Given the description of an element on the screen output the (x, y) to click on. 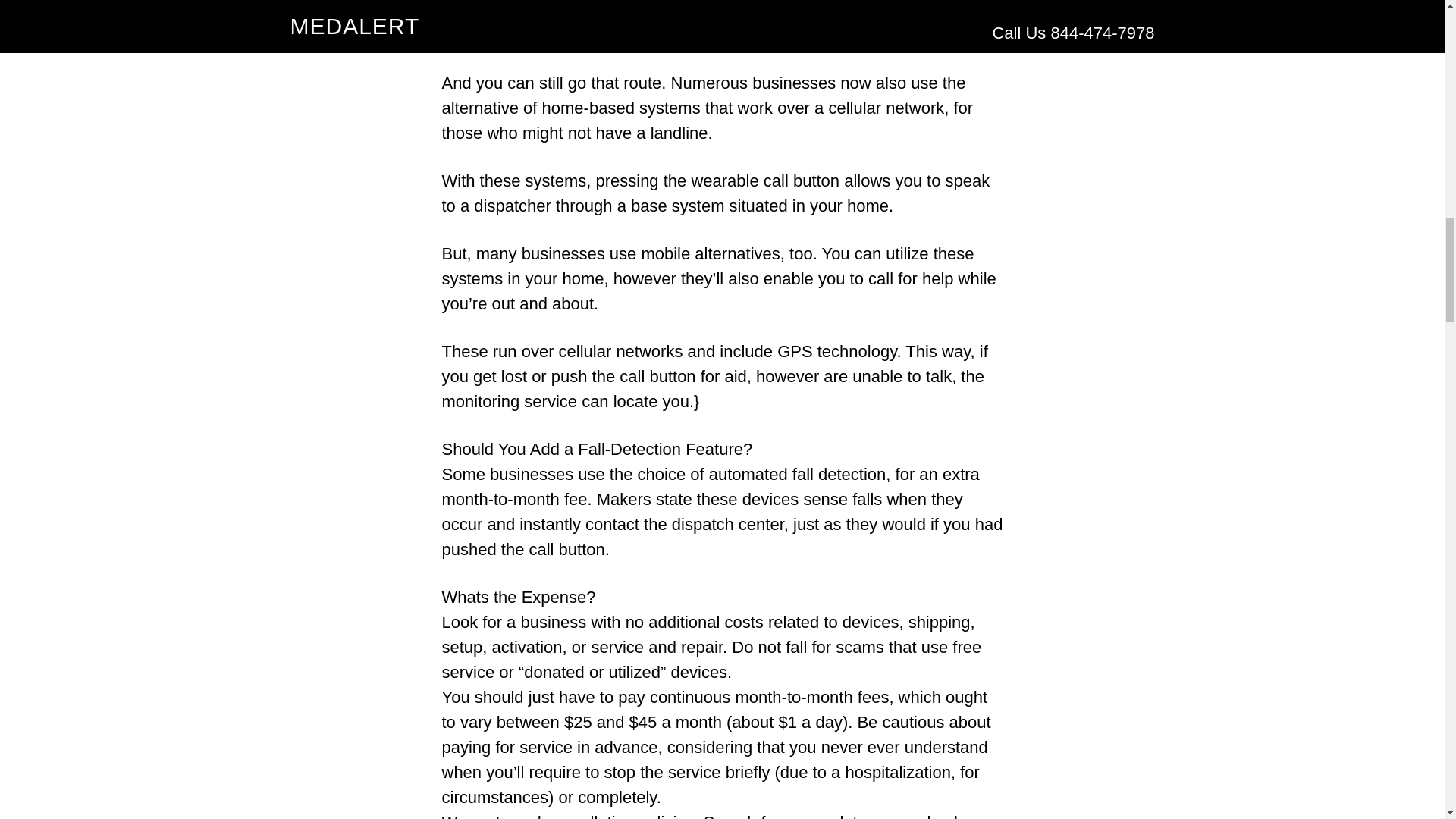
medical alert systems (599, 9)
